Given the description of an element on the screen output the (x, y) to click on. 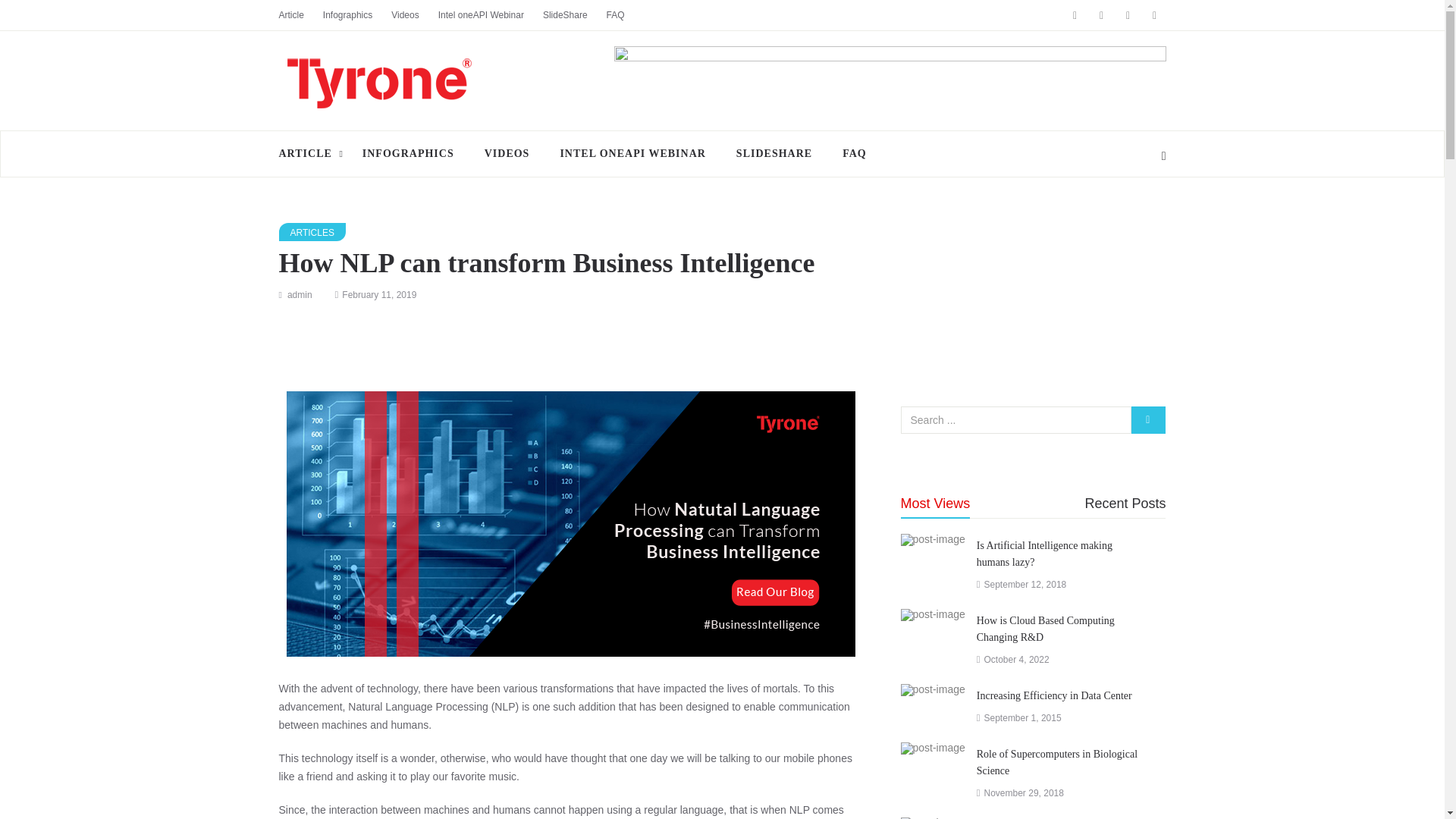
SlideShare (575, 15)
Intel oneAPI Webinar (490, 15)
FAQ (854, 153)
ARTICLES (312, 231)
INTEL ONEAPI WEBINAR (632, 153)
Infographics (357, 15)
ion-social-twitter (1127, 15)
ion-social-googleplus (1101, 15)
VIDEOS (506, 153)
ARTICLE (313, 153)
INFOGRAPHICS (407, 153)
admin (299, 294)
FAQ (625, 15)
Videos (414, 15)
ion-social-facebook (1074, 15)
